Given the description of an element on the screen output the (x, y) to click on. 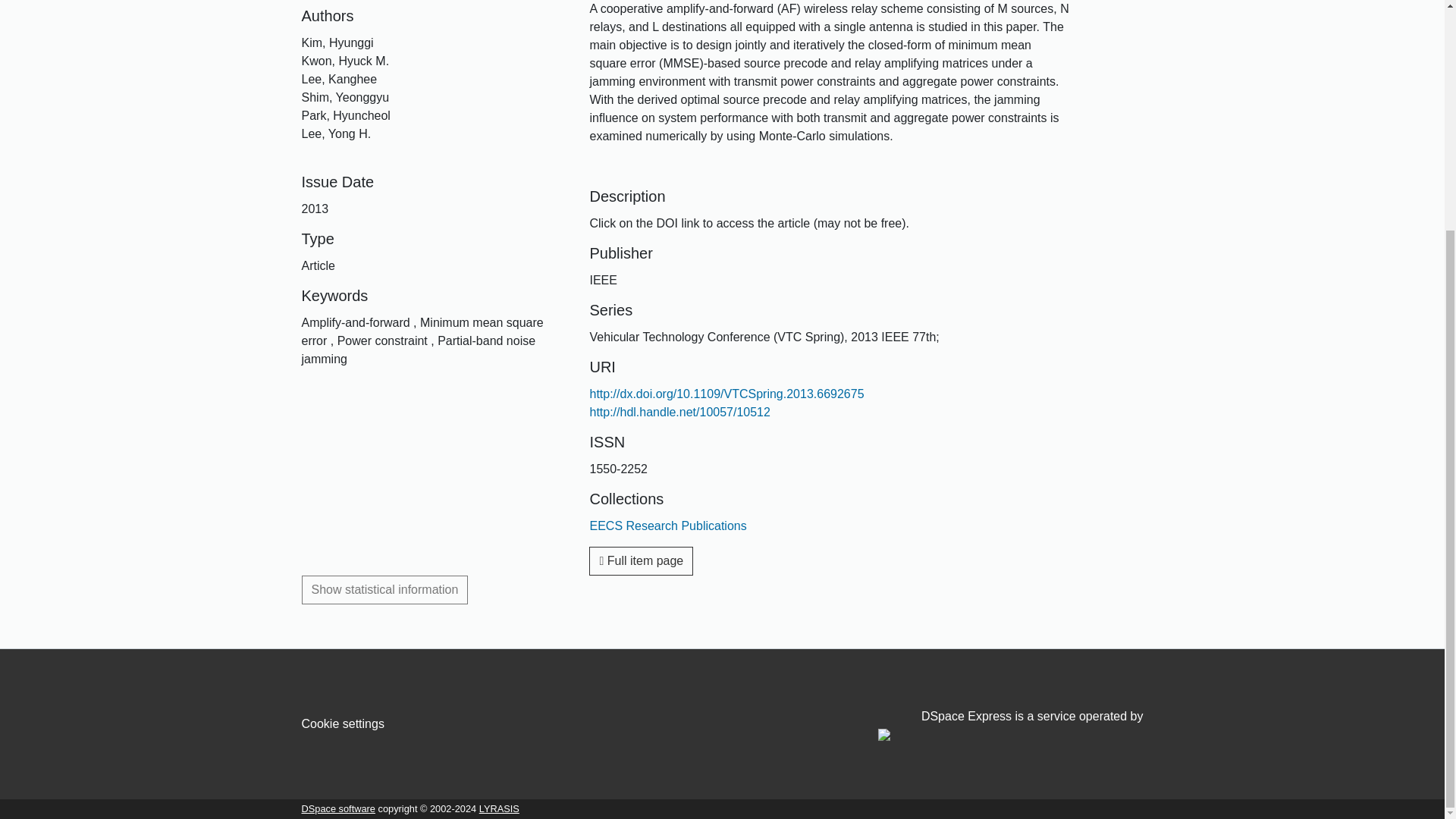
Cookie settings (342, 723)
Show statistical information (384, 589)
LYRASIS (499, 808)
DSpace Express is a service operated by (1009, 726)
DSpace software (338, 808)
Full item page (641, 561)
EECS Research Publications (667, 525)
